Given the description of an element on the screen output the (x, y) to click on. 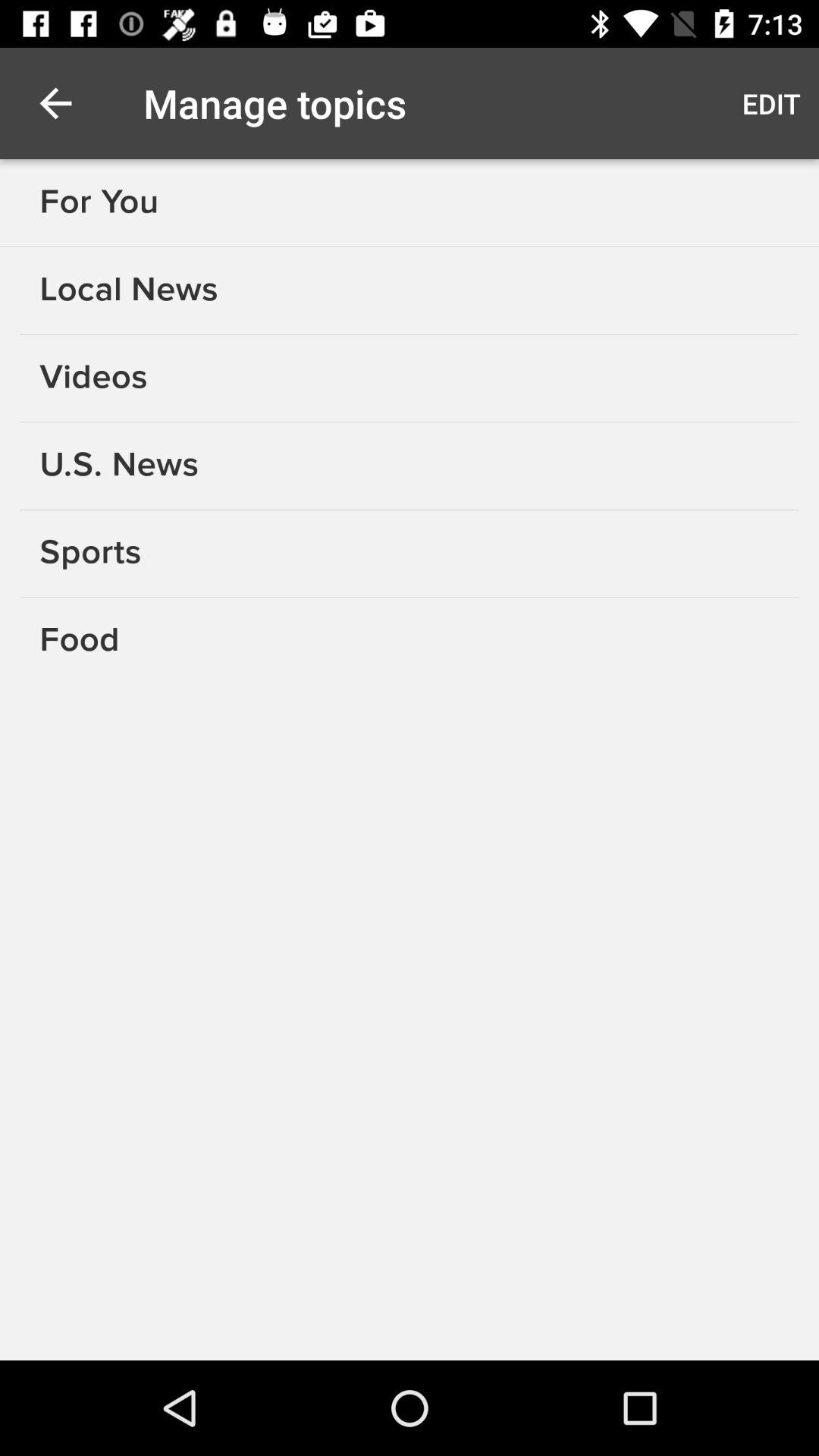
tap the item at the top right corner (771, 103)
